Given the description of an element on the screen output the (x, y) to click on. 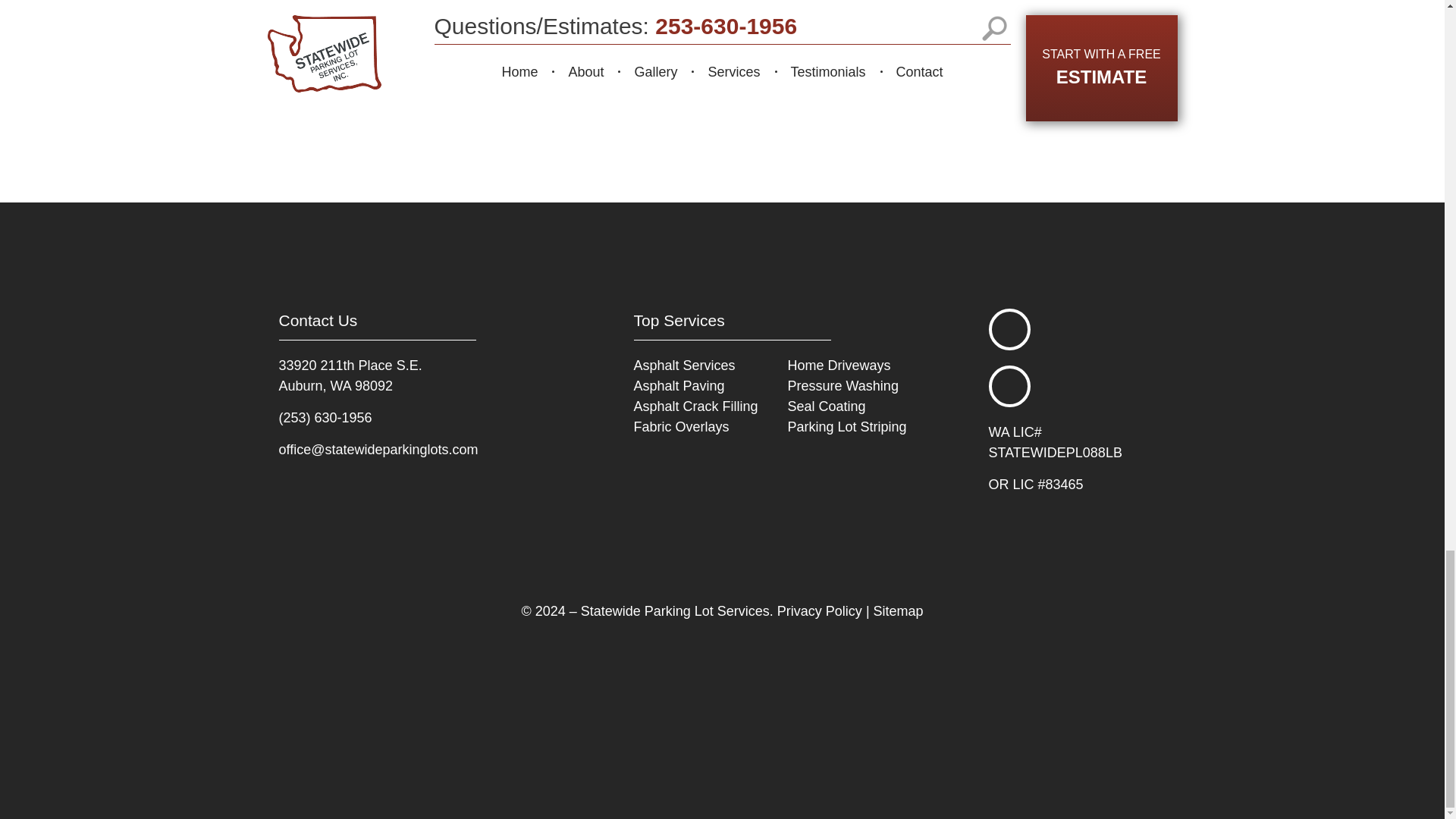
Asphalt Services (684, 364)
Asphalt Crack Filling (695, 405)
Asphalt Paving (679, 385)
